Given the description of an element on the screen output the (x, y) to click on. 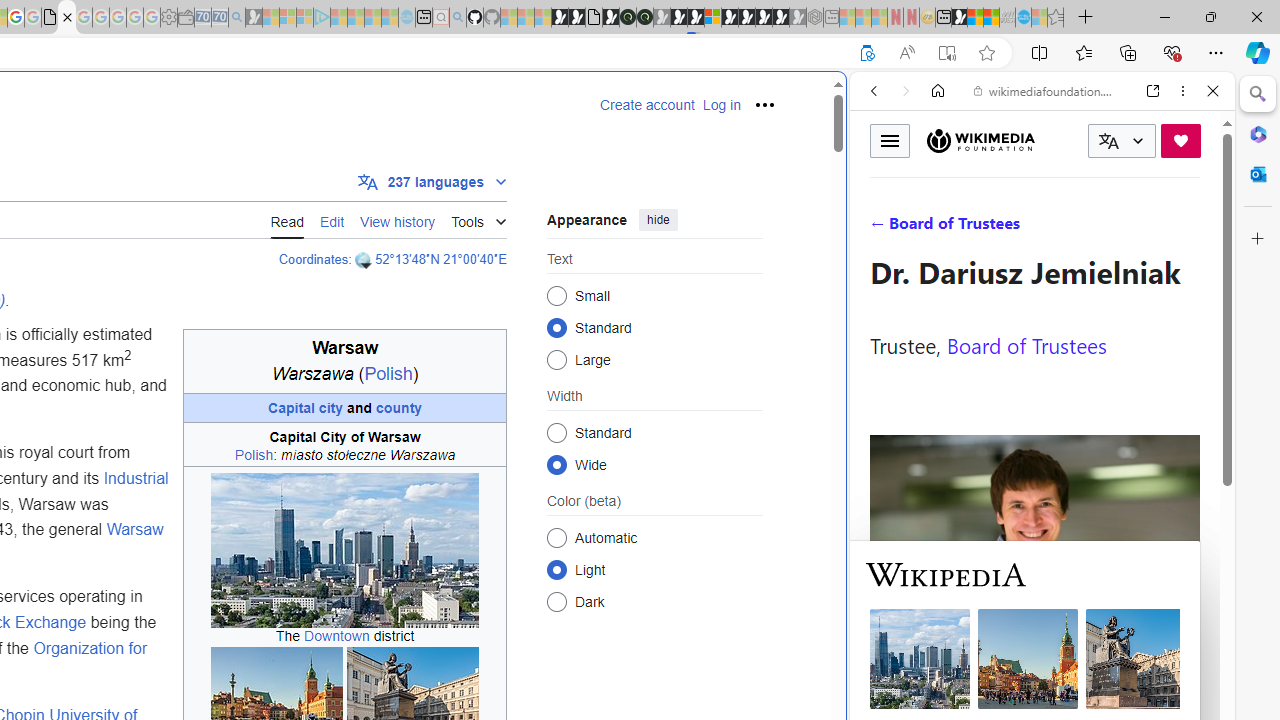
Automatic (556, 537)
Downtown (336, 636)
Capital city and county (344, 408)
CURRENT LANGUAGE: (1121, 141)
Large (556, 359)
Wikimedia Foundation (980, 140)
